Given the description of an element on the screen output the (x, y) to click on. 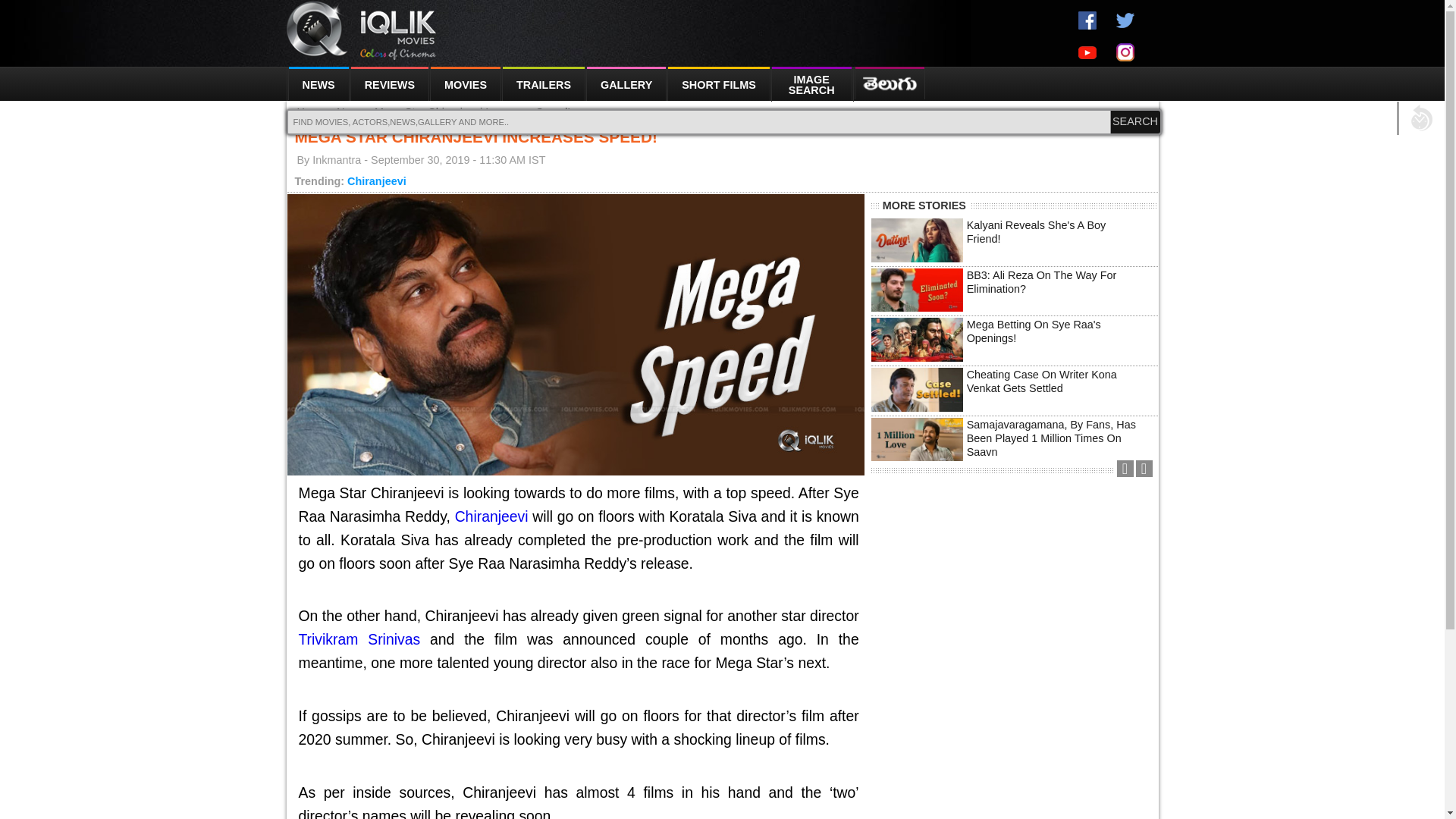
iQlik - Home (361, 30)
REVIEWS (389, 83)
Previous (1124, 468)
TRAILERS (543, 83)
Next (1144, 468)
GALLERY (625, 83)
NEWS (316, 83)
MOVIES (465, 83)
